Given the description of an element on the screen output the (x, y) to click on. 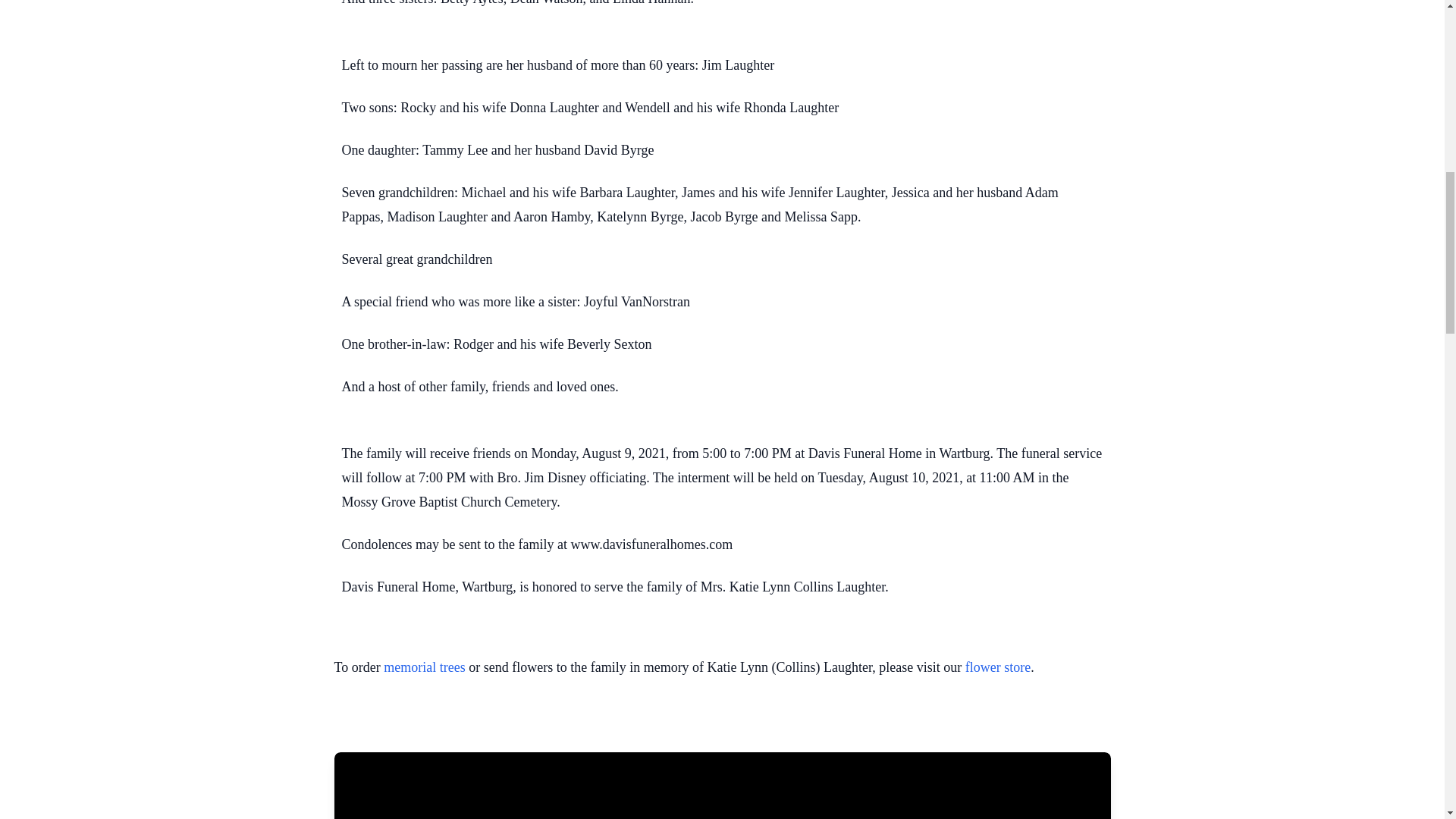
memorial trees (424, 667)
flower store (997, 667)
